Given the description of an element on the screen output the (x, y) to click on. 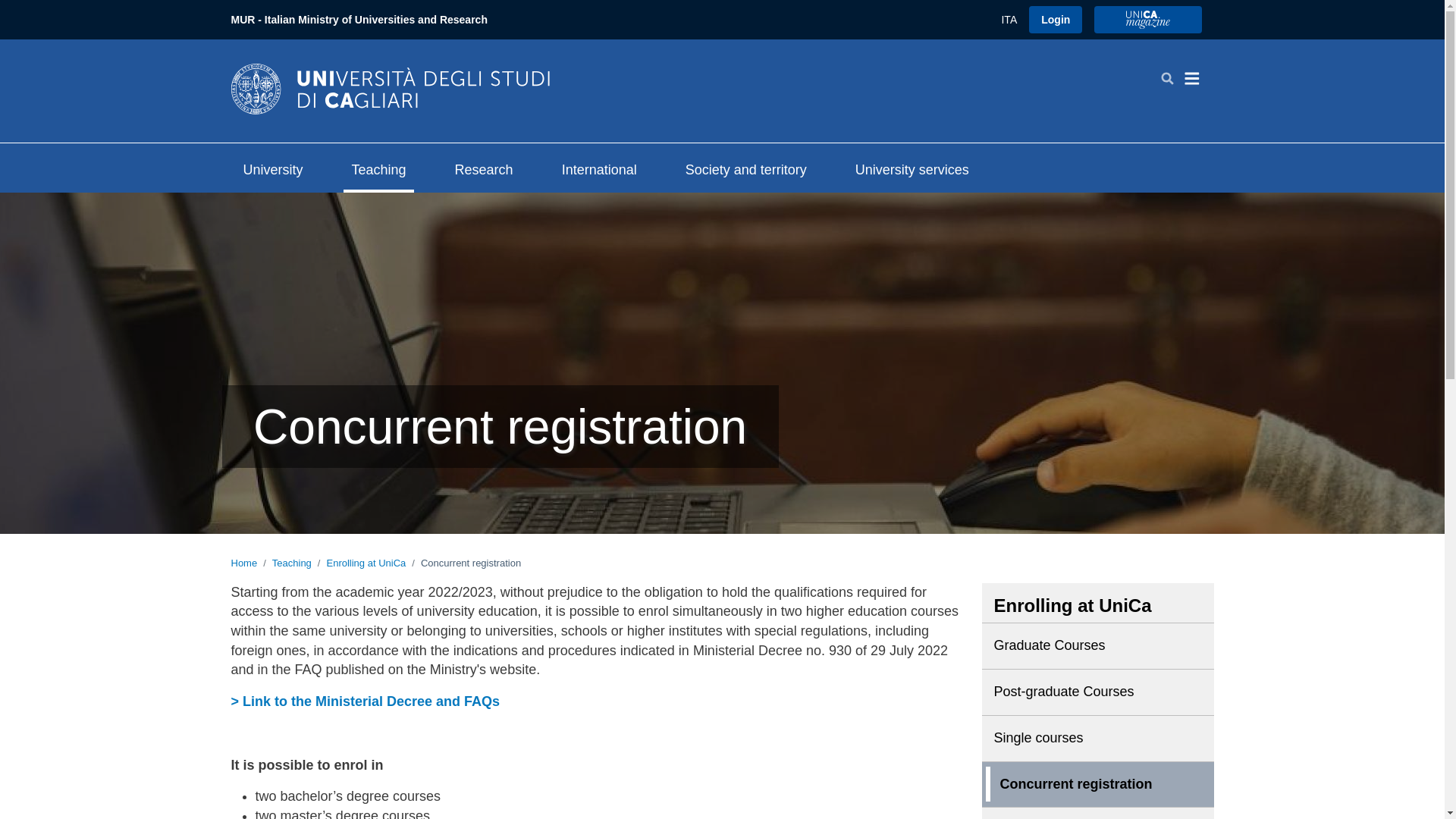
ITA (1008, 19)
MUR - Italian Ministry of Universities and Research (358, 19)
UniCA Magazine (1147, 19)
Home (389, 87)
Login (1055, 19)
Search (1165, 77)
